Given the description of an element on the screen output the (x, y) to click on. 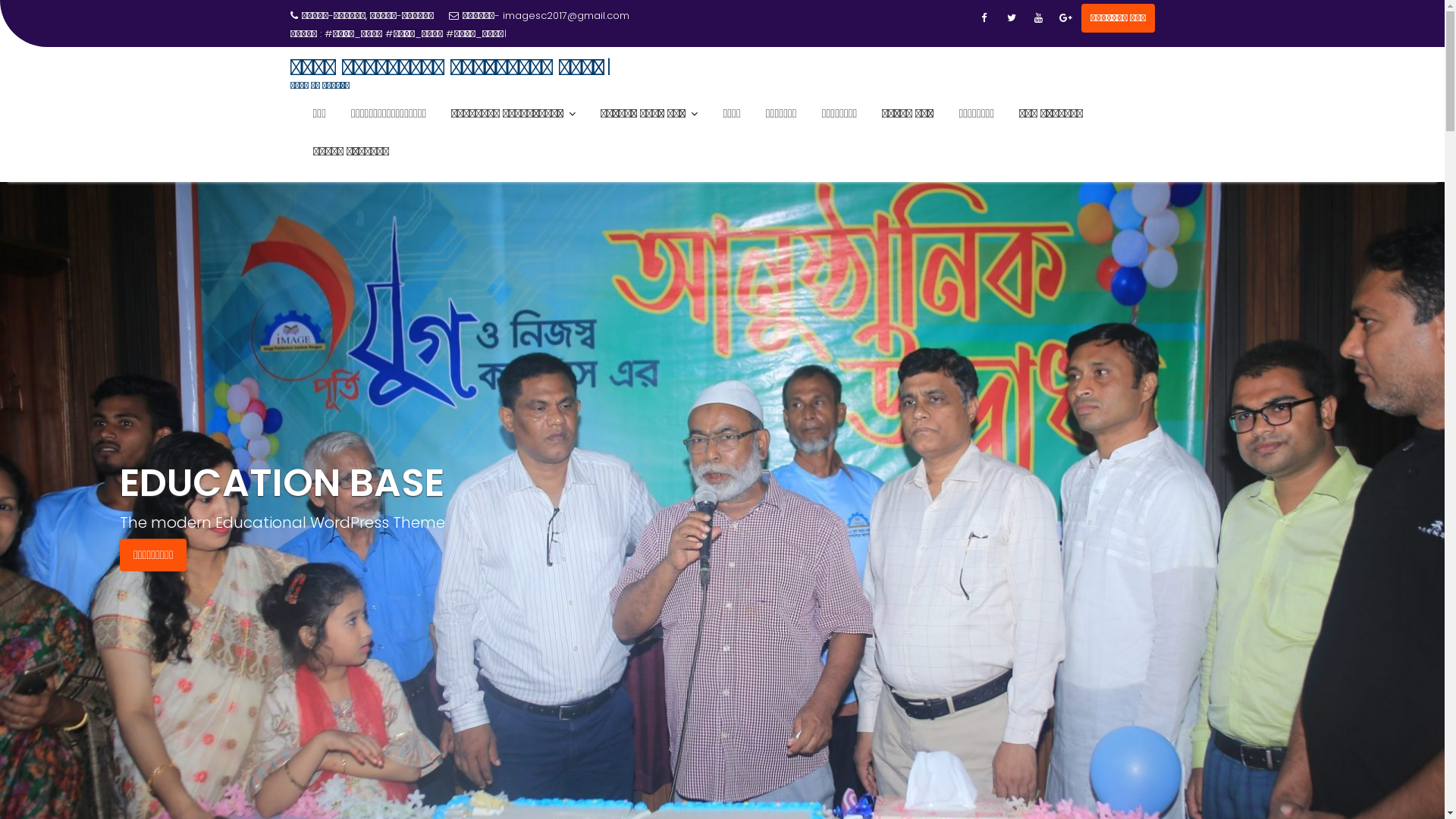
Twitter Element type: hover (1011, 18)
Youtube Element type: hover (1038, 18)
Facebook Element type: hover (984, 18)
Welcome Program Element type: text (371, 34)
Google Plus Element type: hover (1066, 18)
